Given the description of an element on the screen output the (x, y) to click on. 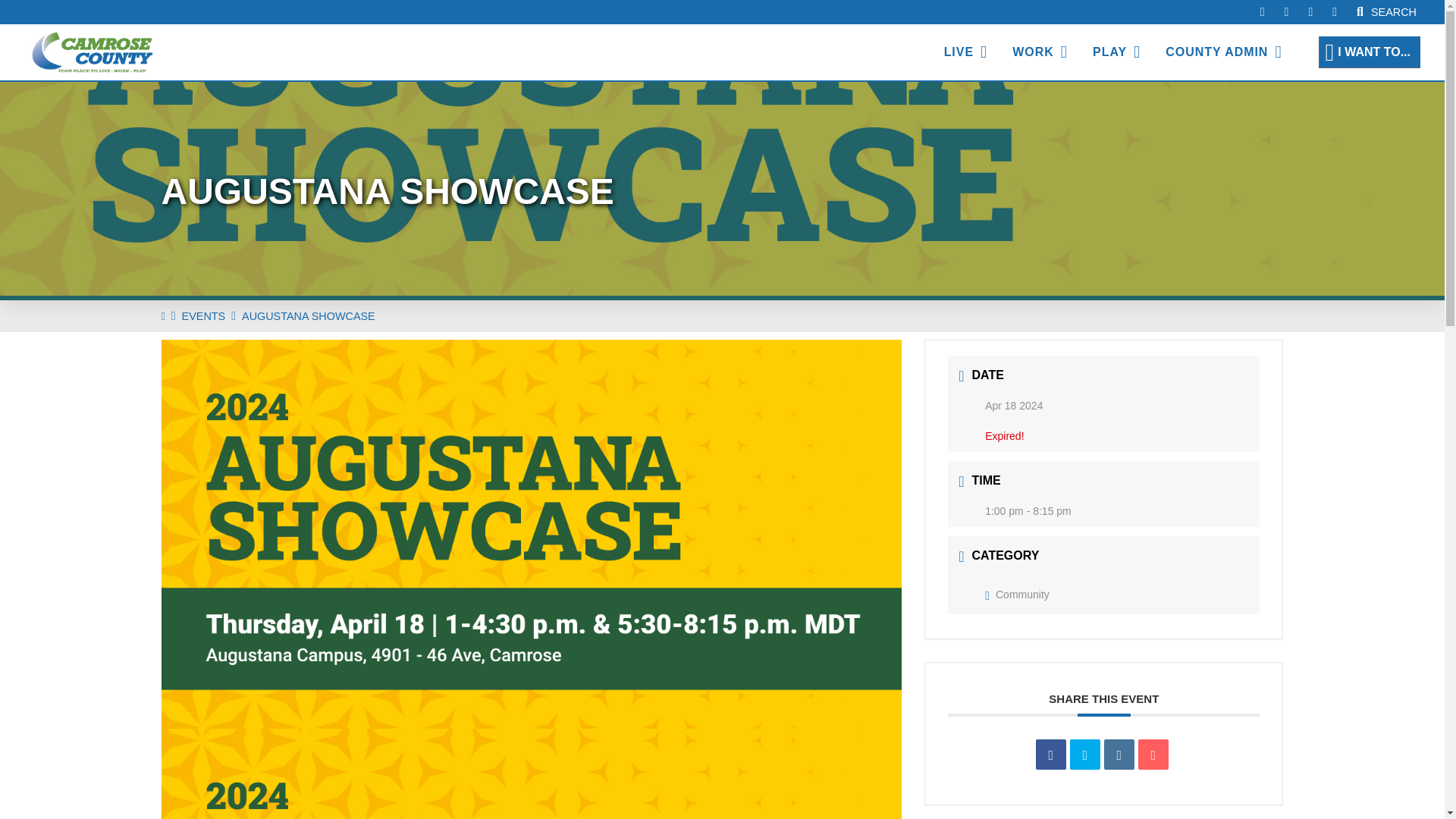
You Are Here (308, 316)
Share on Facebook (1050, 754)
COUNTY ADMIN (1223, 52)
PLAY (1116, 52)
AUGUSTANA SHOWCASE (308, 316)
WORK (1039, 52)
HOME (162, 316)
LIVE (965, 52)
Email (1153, 754)
Linkedin (1118, 754)
Tweet (1085, 754)
EVENTS (203, 316)
